Given the description of an element on the screen output the (x, y) to click on. 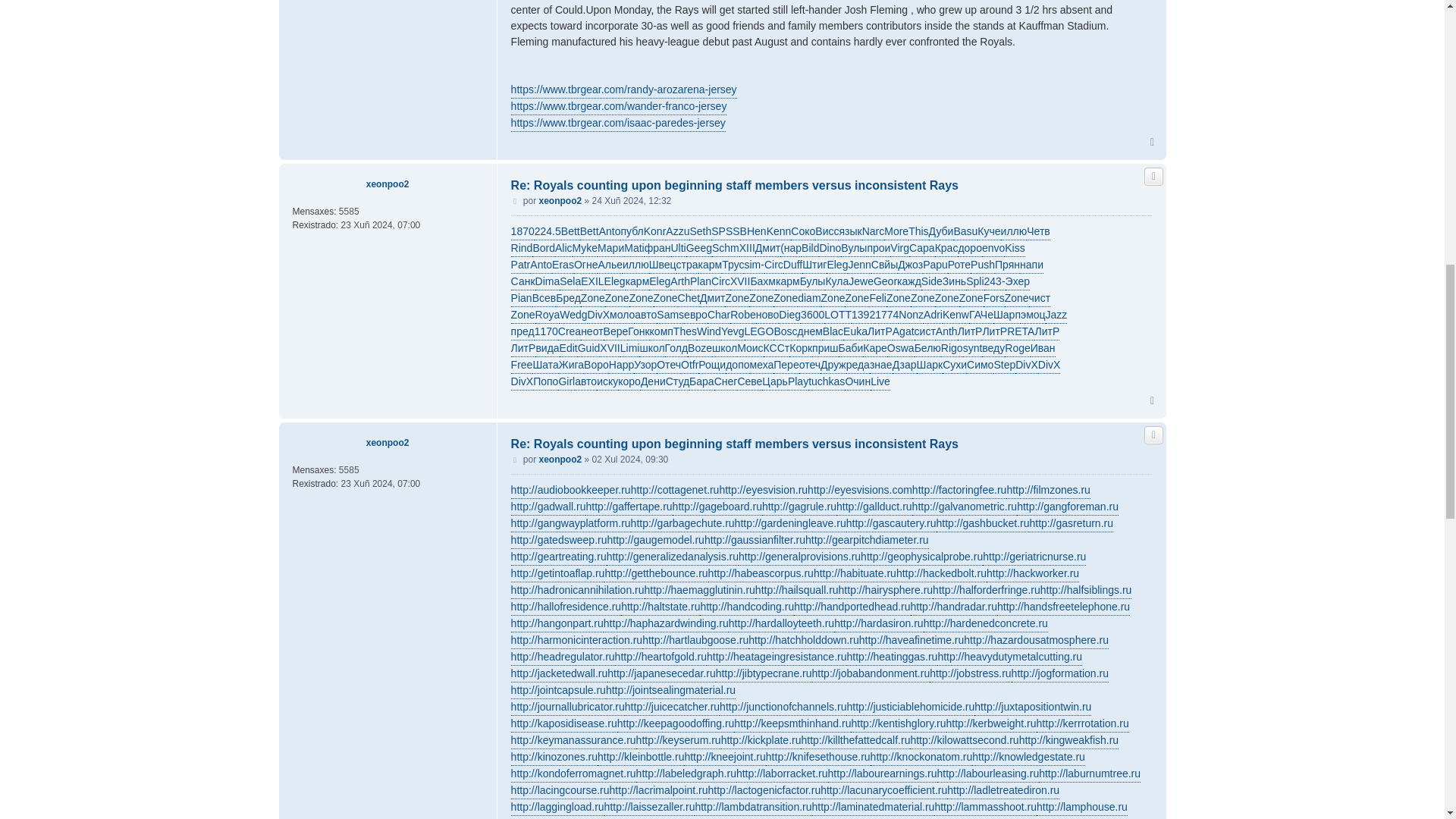
xeonpoo2 (387, 183)
Arriba (1153, 141)
Arriba (1153, 141)
Bett (569, 231)
224.5 (547, 231)
Responder citando (1152, 176)
Citar (1152, 176)
1870 (522, 231)
Responder citando (1152, 434)
Arriba (1153, 399)
xeonpoo2 (559, 201)
